Given the description of an element on the screen output the (x, y) to click on. 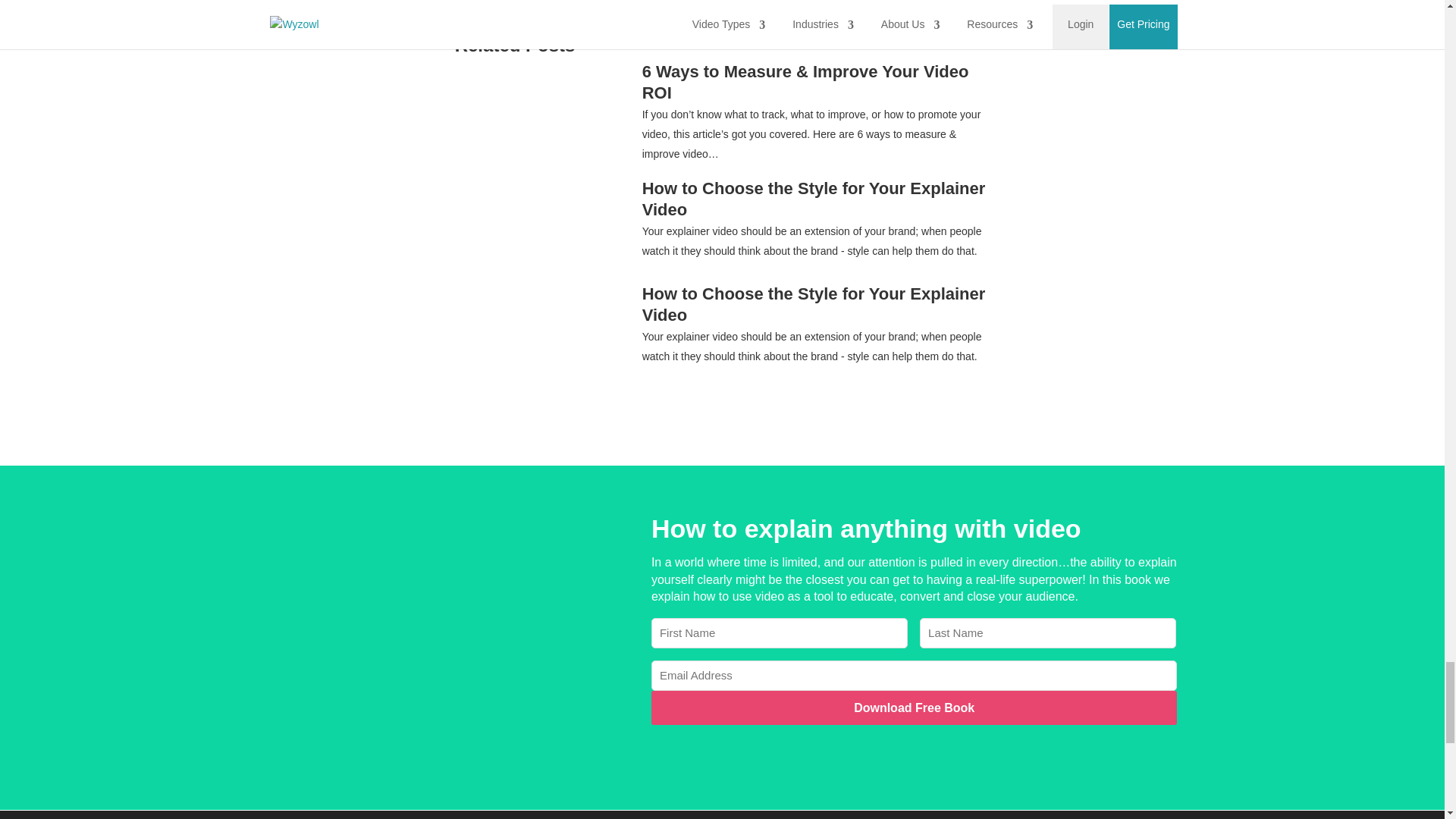
Download Free Book (913, 707)
